Given the description of an element on the screen output the (x, y) to click on. 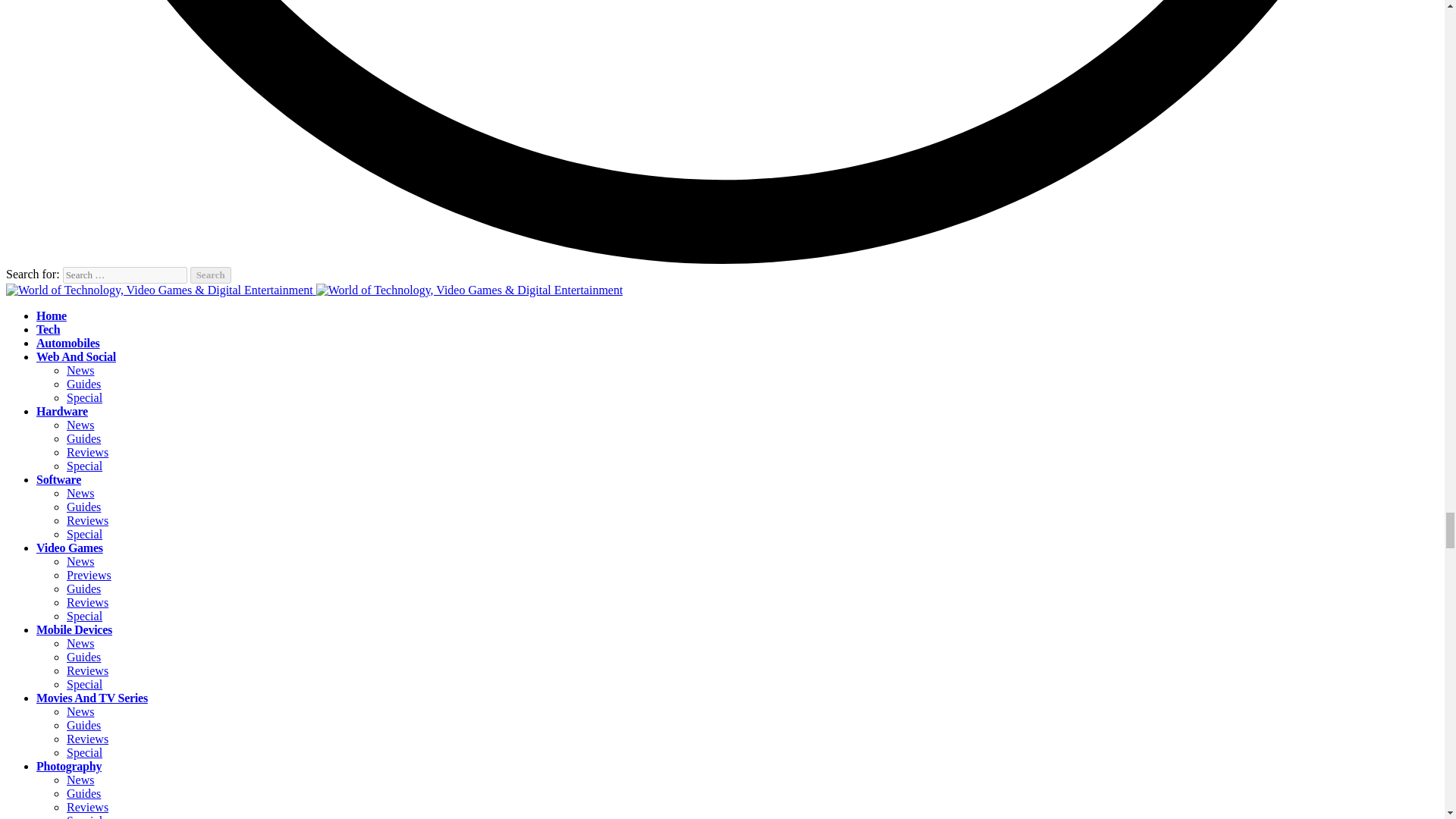
Search (210, 274)
Search (210, 274)
